Given the description of an element on the screen output the (x, y) to click on. 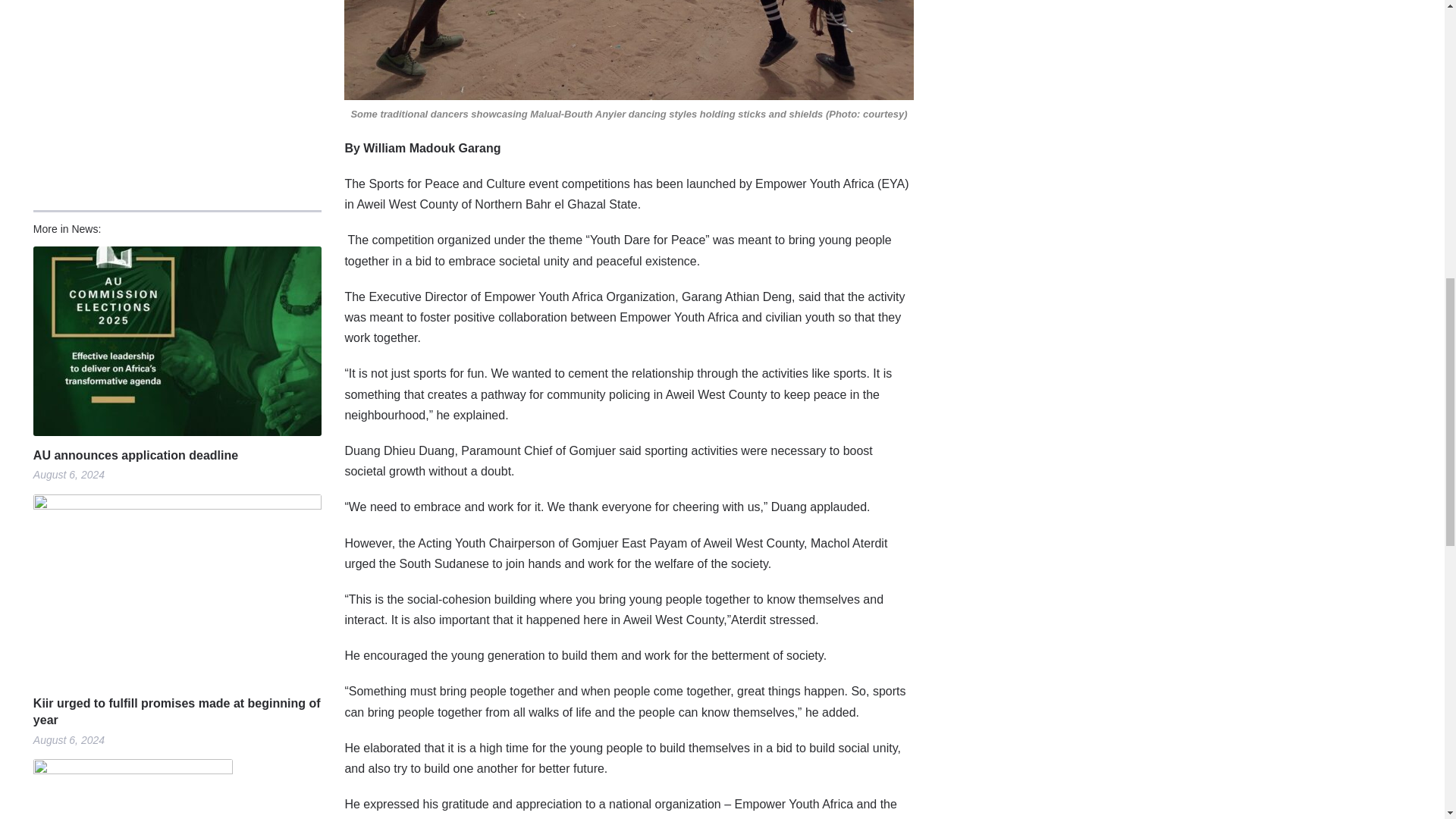
Permalink to AU announces application deadline (177, 455)
Permalink to AU announces application deadline (177, 340)
